Given the description of an element on the screen output the (x, y) to click on. 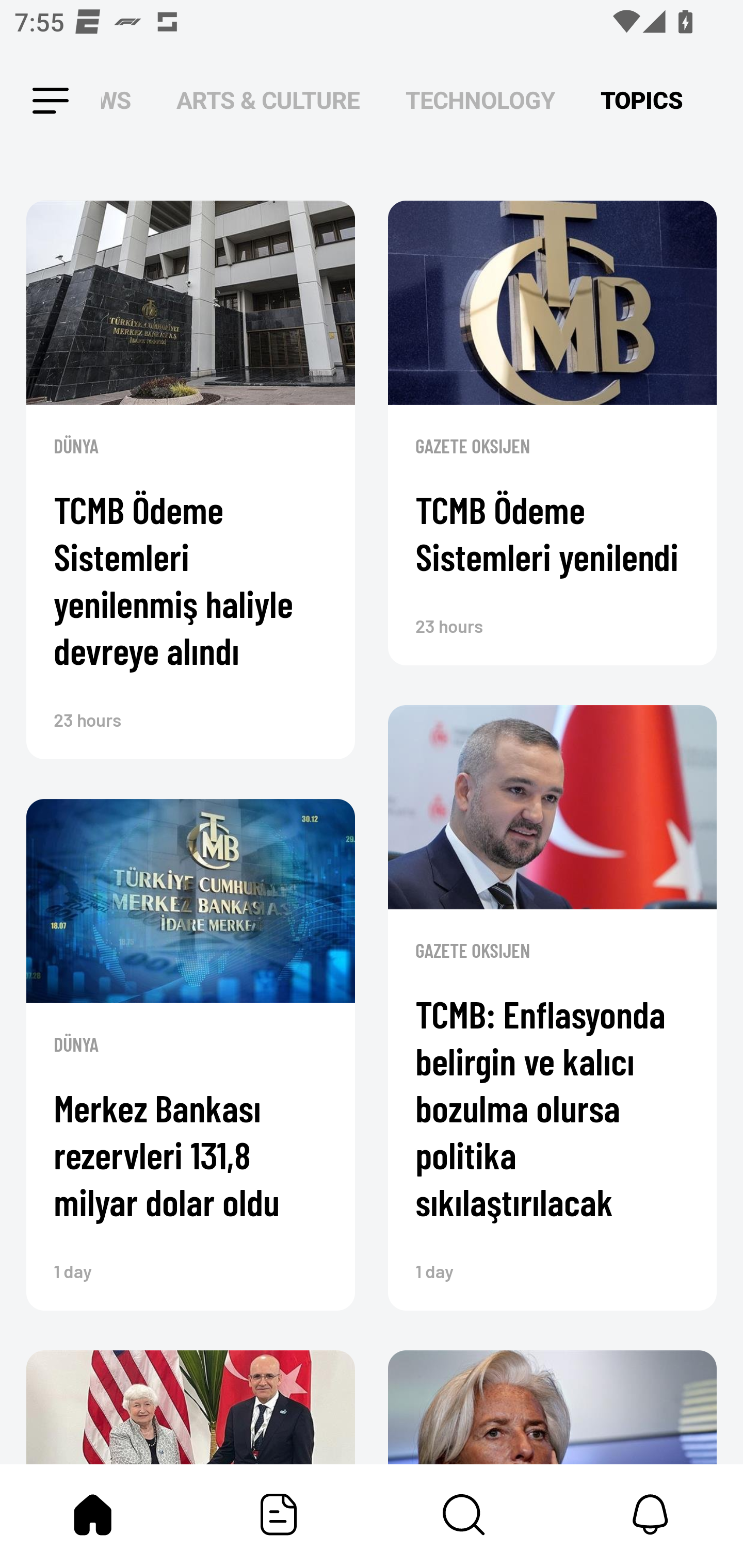
NEWS (121, 100)
ARTS & CULTURE (268, 100)
TECHNOLOGY (480, 100)
Featured (278, 1514)
Content Store (464, 1514)
Notifications (650, 1514)
